Given the description of an element on the screen output the (x, y) to click on. 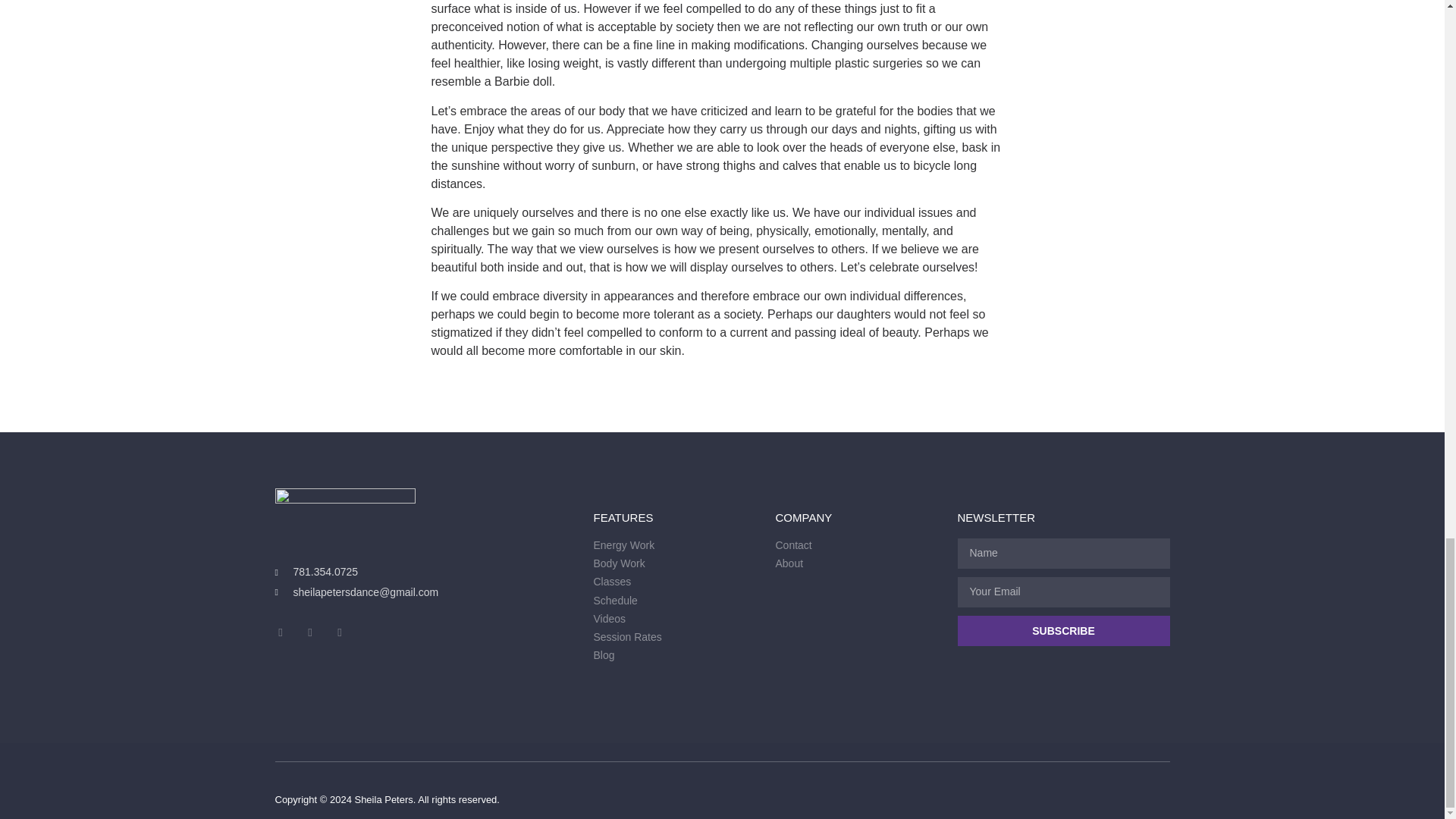
Blog (676, 655)
Videos (676, 618)
Schedule (676, 600)
Classes (676, 581)
Body Work (676, 563)
Energy Work (676, 545)
Session Rates (676, 636)
781.354.0725 (426, 572)
